Given the description of an element on the screen output the (x, y) to click on. 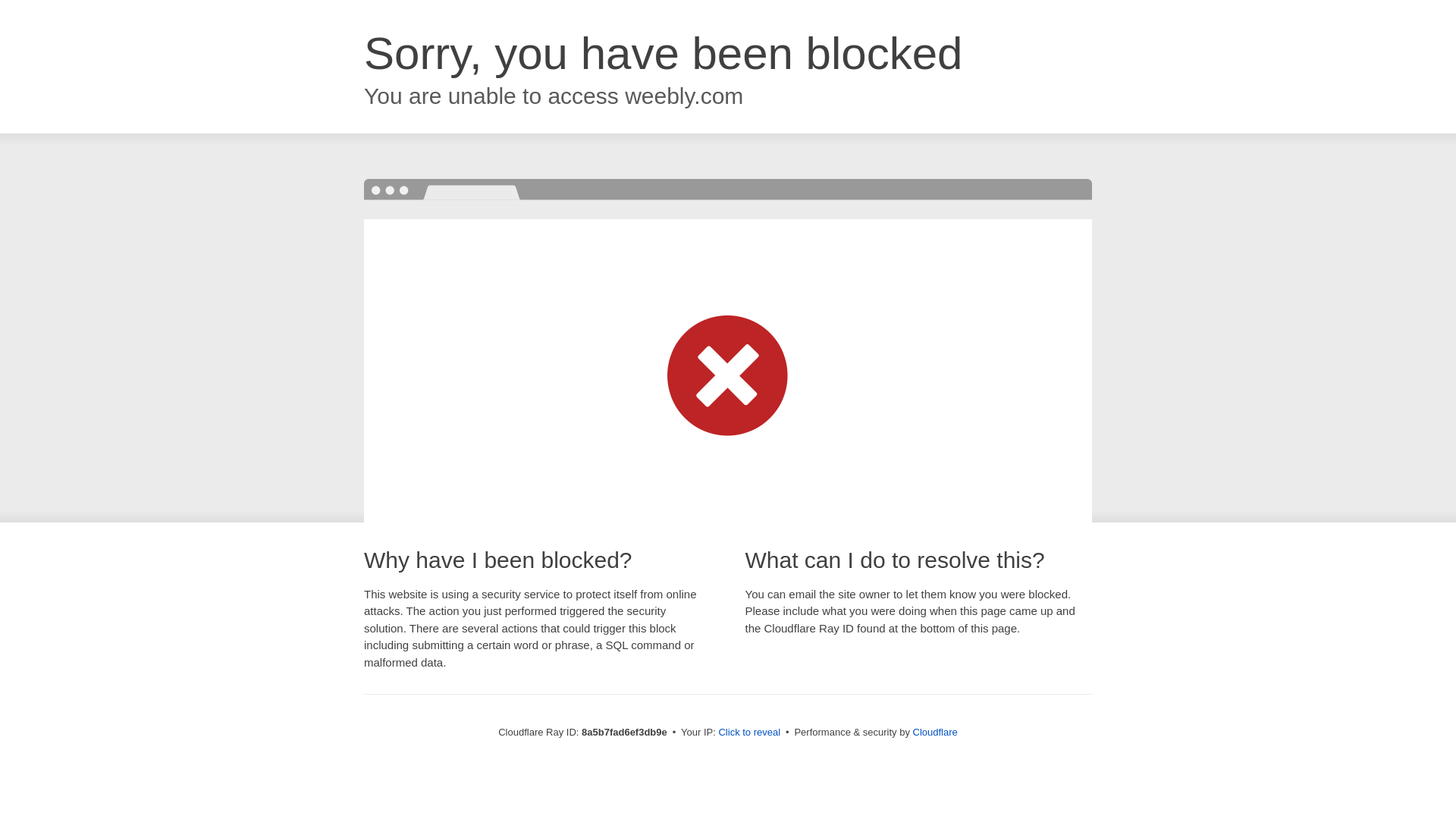
Click to reveal (748, 732)
Cloudflare (935, 731)
